Given the description of an element on the screen output the (x, y) to click on. 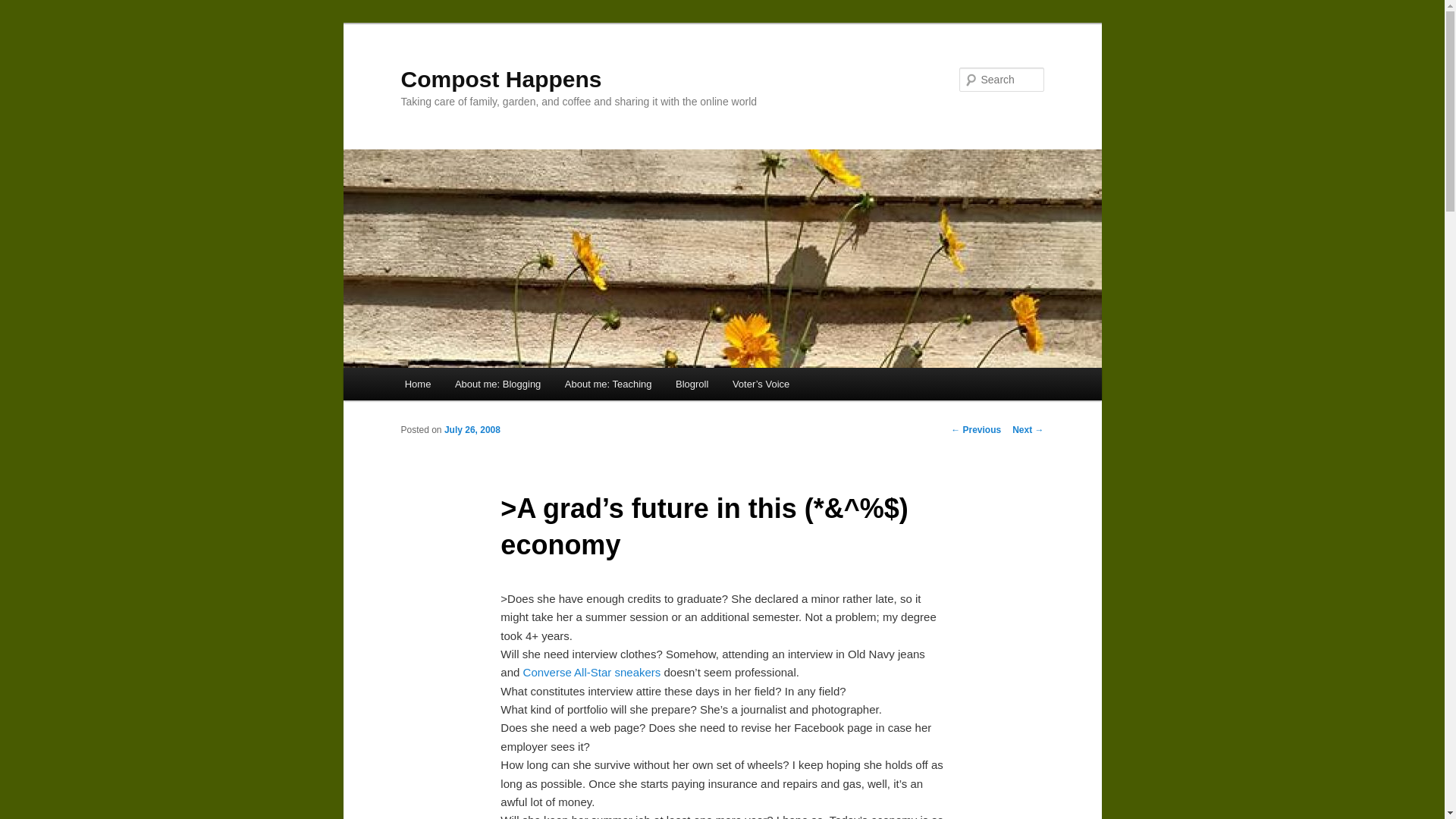
sneakers (638, 671)
Home (417, 383)
6:14 am (472, 429)
About me: Teaching (608, 383)
Compost Happens (500, 78)
July 26, 2008 (472, 429)
About me: Blogging (497, 383)
Converse All-Star (566, 671)
Blogroll (691, 383)
Search (24, 8)
